Given the description of an element on the screen output the (x, y) to click on. 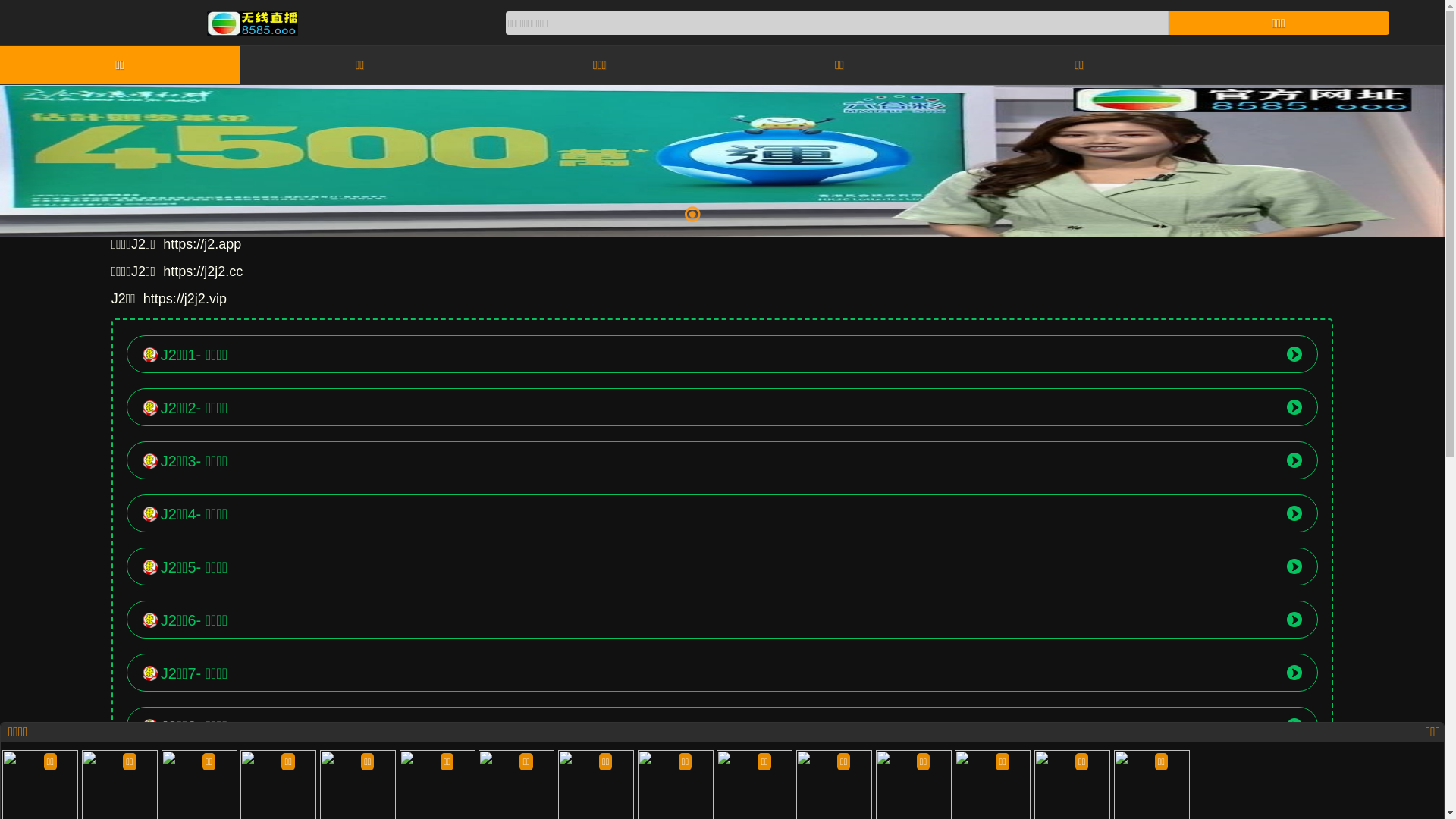
1 Element type: text (691, 214)
